Given the description of an element on the screen output the (x, y) to click on. 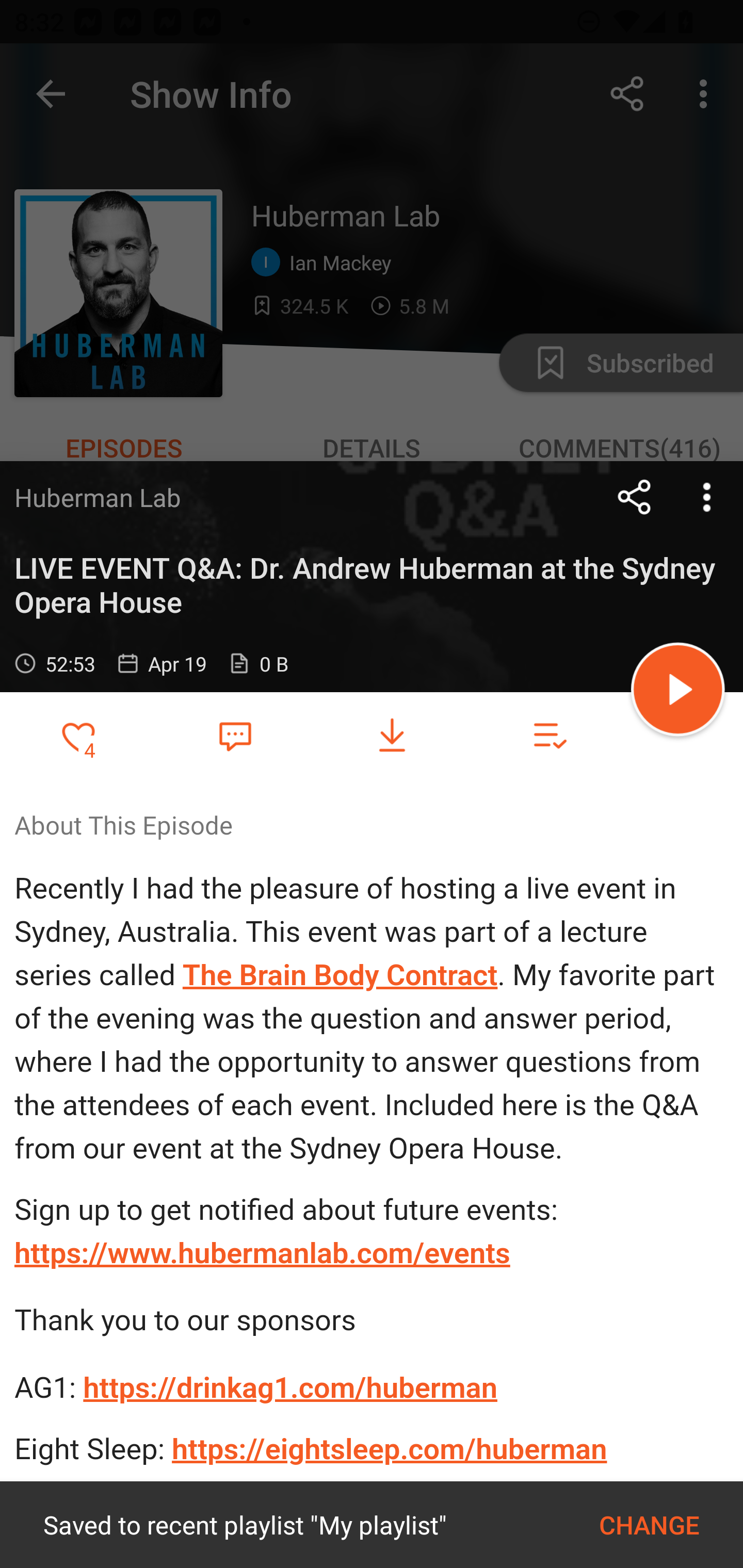
Share (634, 496)
more options (706, 496)
Play (677, 692)
Favorite (234, 735)
Add to Favorites (78, 735)
Download (391, 735)
Add to playlist (548, 735)
The Brain Body Contract (339, 976)
https://www.hubermanlab.com/events (262, 1253)
https://drinkag1.com/huberman (290, 1386)
https://eightsleep.com/huberman (389, 1448)
Saved to recent playlist "My playlist" CHANGE (371, 1524)
CHANGE (648, 1524)
